Given the description of an element on the screen output the (x, y) to click on. 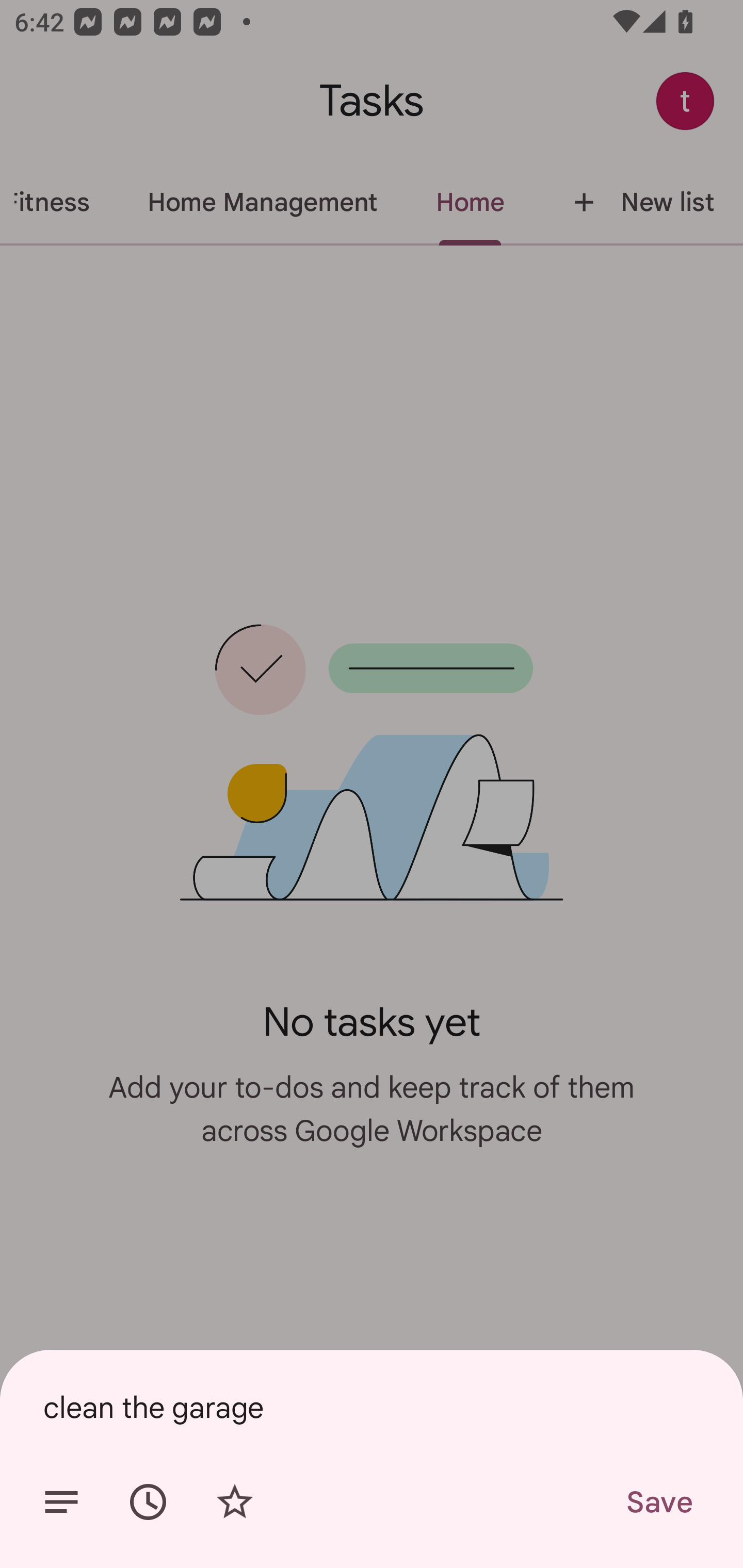
clean the garage (371, 1407)
Save (659, 1501)
Add details (60, 1501)
Set date/time (147, 1501)
Add star (234, 1501)
